Given the description of an element on the screen output the (x, y) to click on. 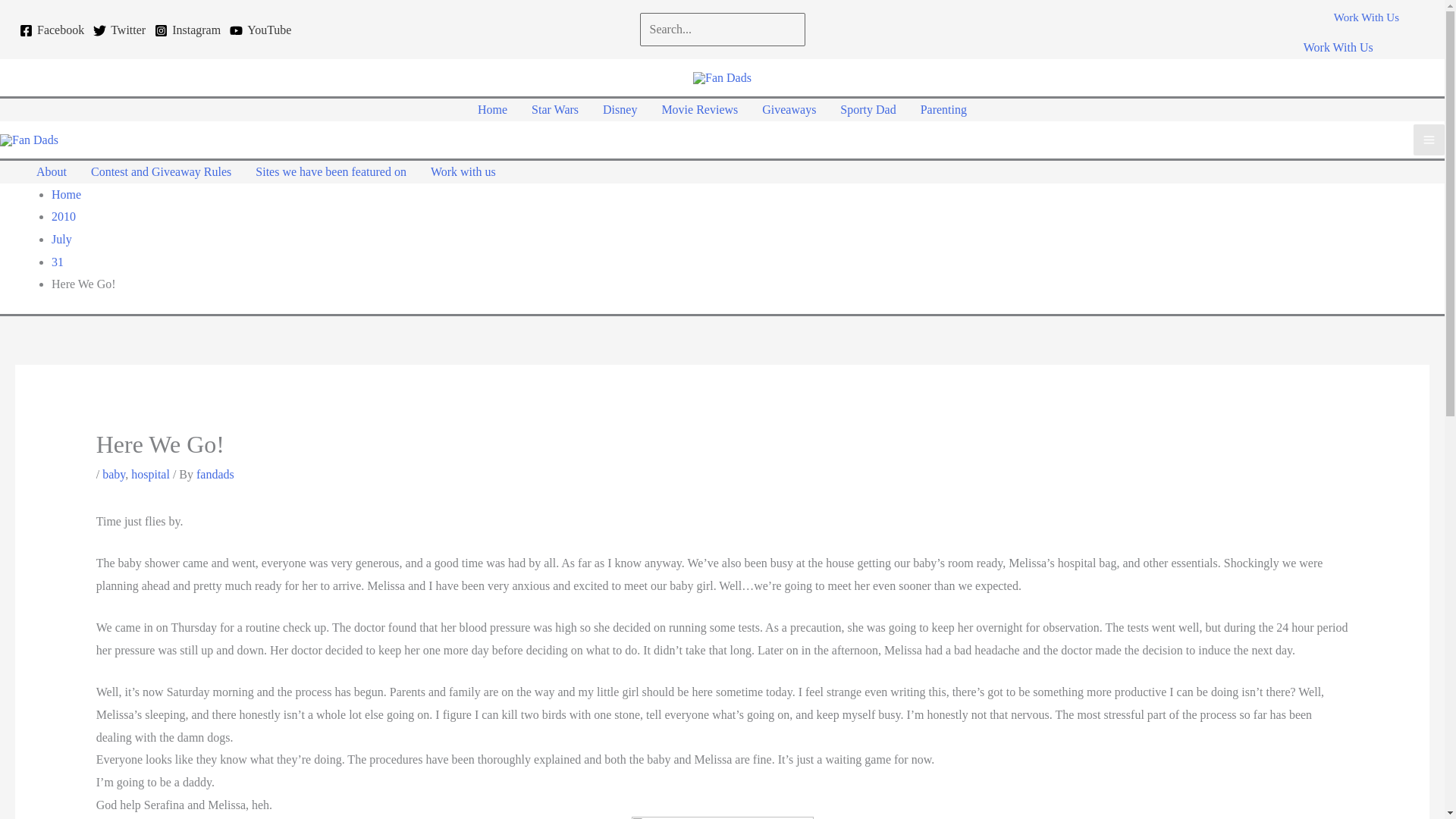
Twitter (119, 30)
2010 (62, 215)
hospital (150, 473)
Home (492, 109)
fandads (215, 473)
Sites we have been featured on (331, 171)
Work With Us (1366, 27)
Disney (620, 109)
Work with us (463, 171)
About (51, 171)
Home (65, 194)
Star Wars (555, 109)
July (60, 238)
Contest and Giveaway Rules (160, 171)
Instagram (187, 30)
